Given the description of an element on the screen output the (x, y) to click on. 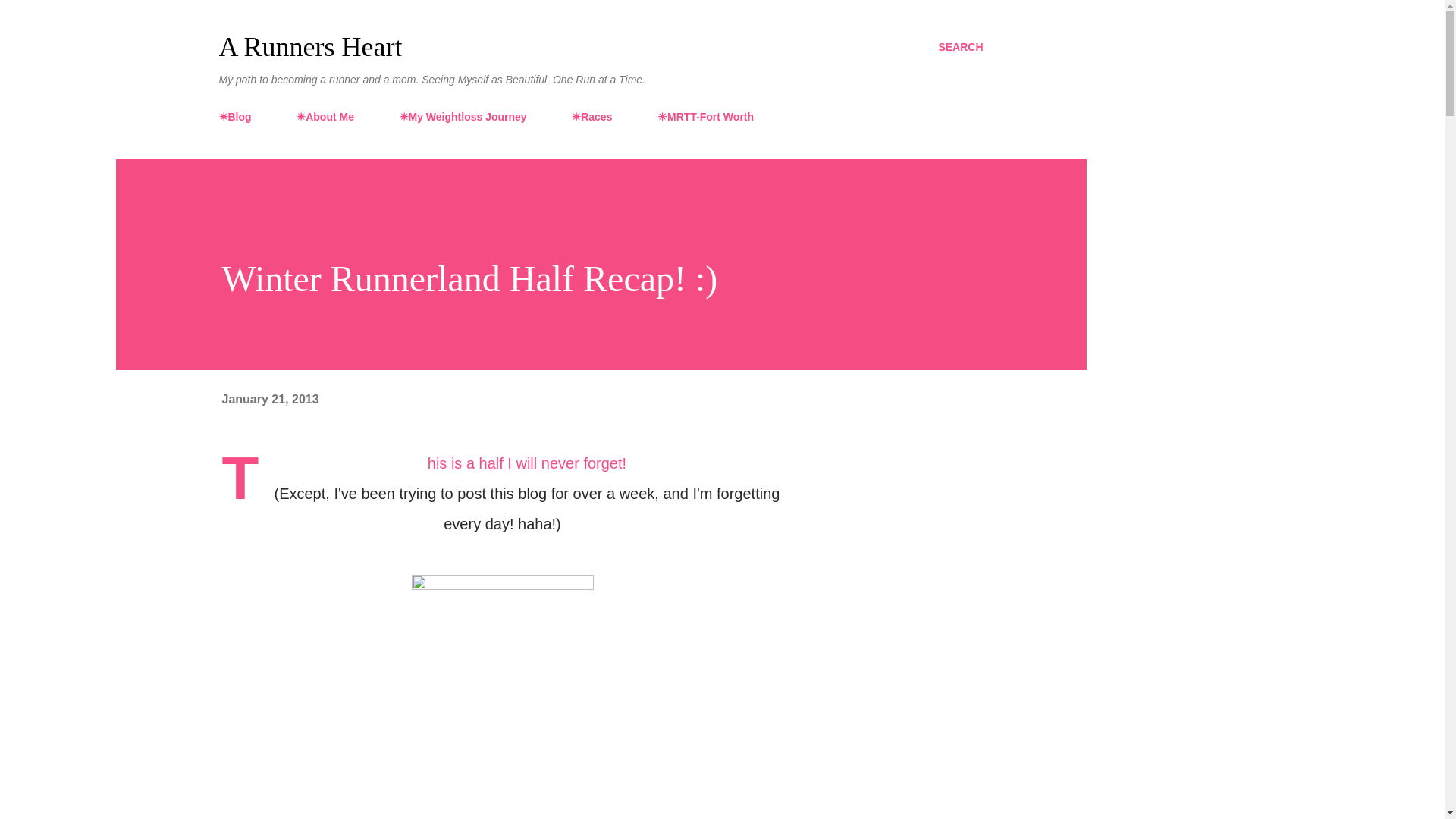
SEARCH (959, 46)
A Runners Heart (309, 46)
permanent link (269, 399)
January 21, 2013 (269, 399)
